Given the description of an element on the screen output the (x, y) to click on. 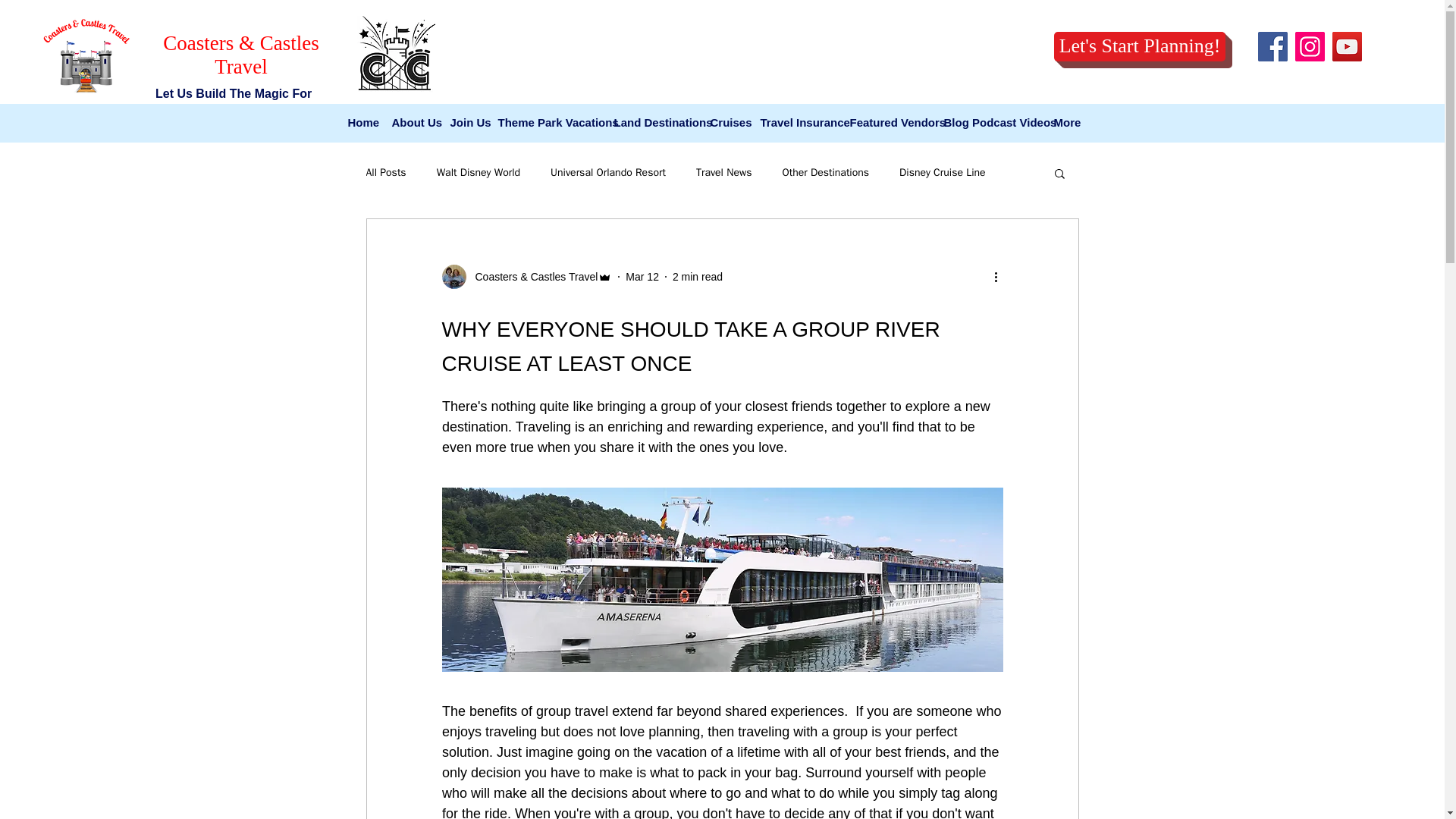
Theme Park Vacations (547, 122)
Cruises (726, 122)
Land Destinations (655, 122)
2 min read (697, 275)
Featured Vendors (888, 122)
Join Us (466, 122)
Travel Insurance (796, 122)
About Us (413, 122)
Blog Podcast Videos (990, 122)
Let's Start Planning! (1139, 46)
